Given the description of an element on the screen output the (x, y) to click on. 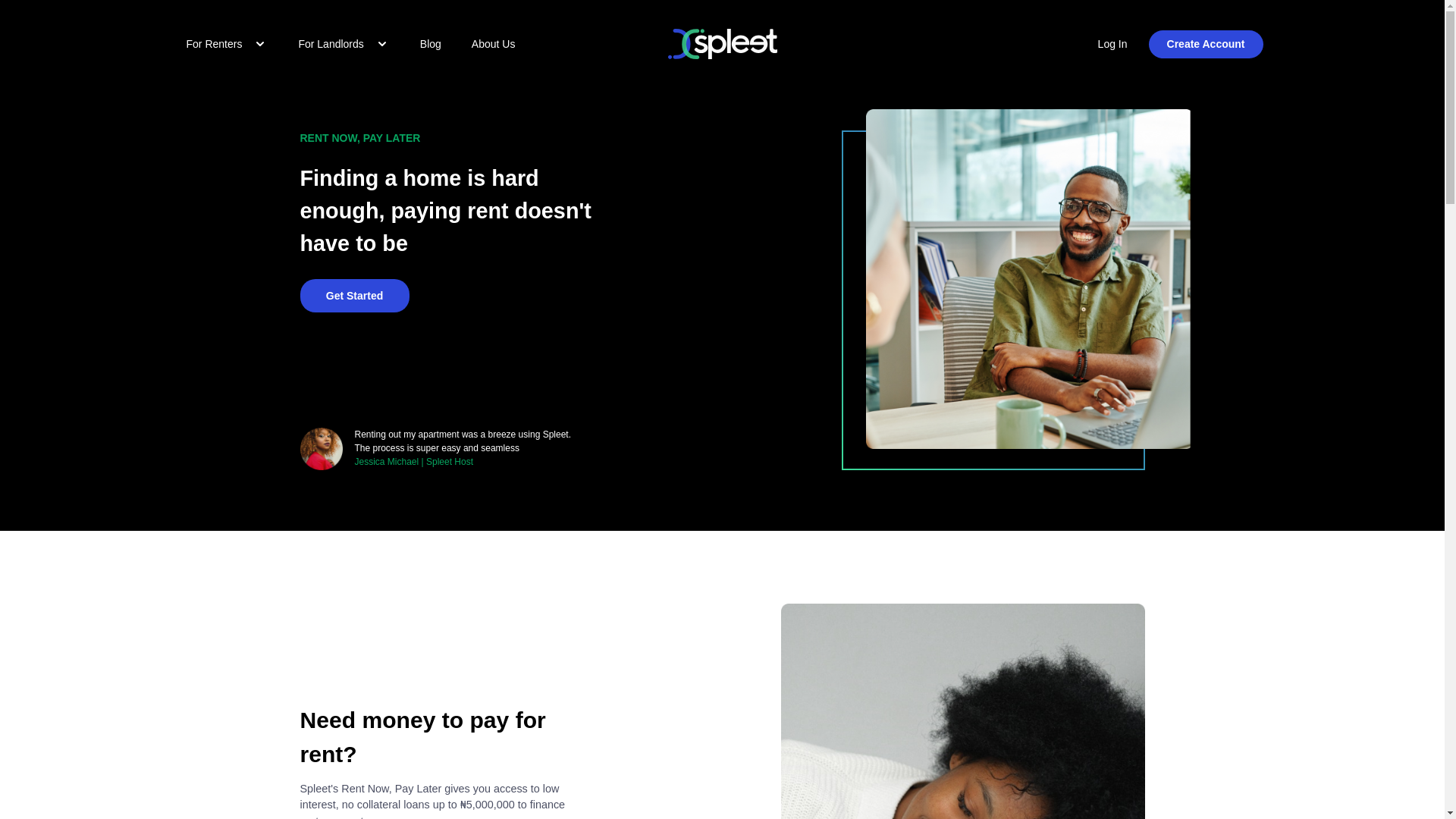
About Us (493, 43)
Create Account (1205, 44)
Blog (430, 43)
Log In (1111, 43)
Get Started (354, 295)
